Given the description of an element on the screen output the (x, y) to click on. 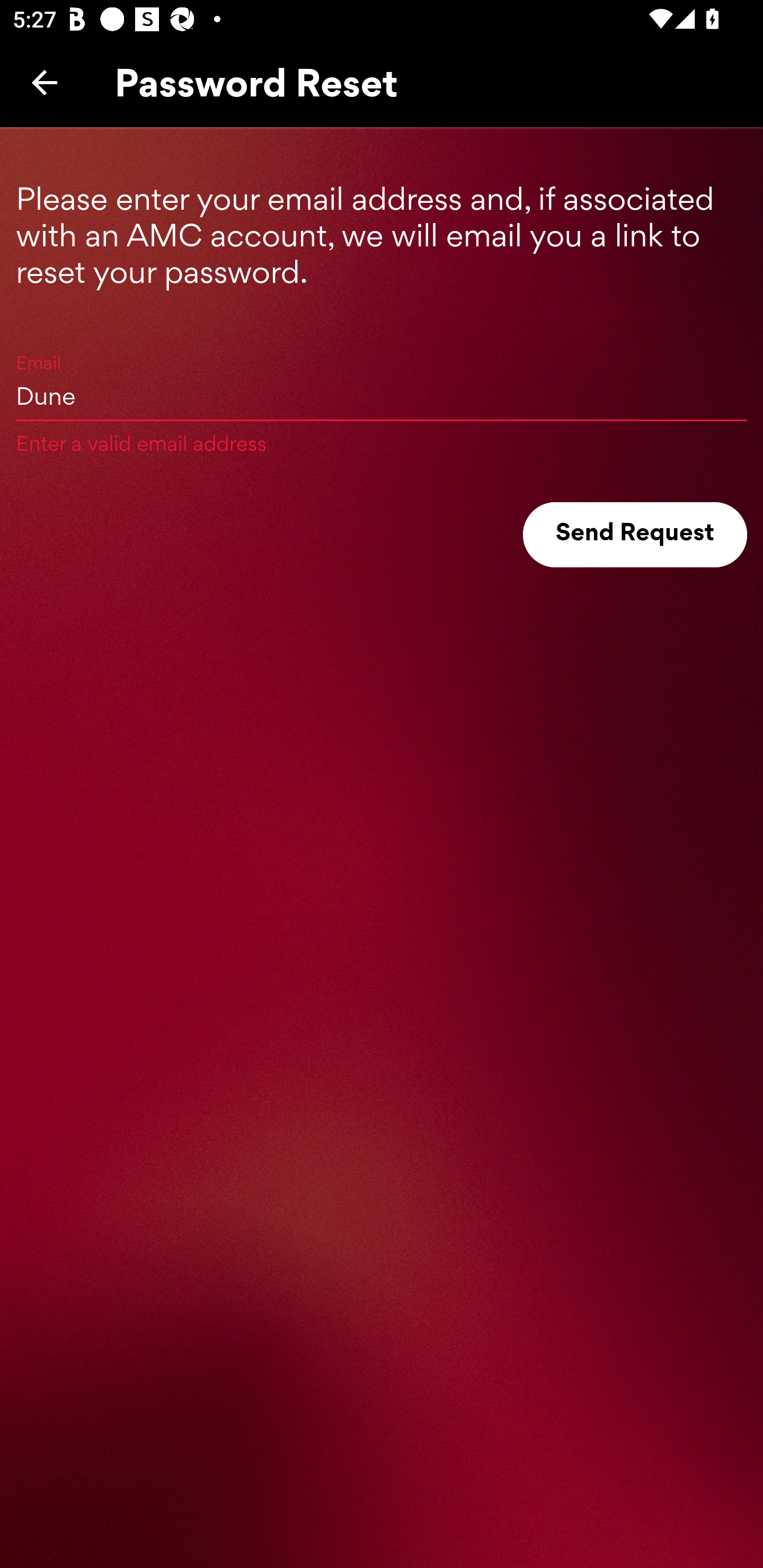
Back (44, 82)
Dune Enter a valid email address (381, 394)
Send Request (634, 535)
